Given the description of an element on the screen output the (x, y) to click on. 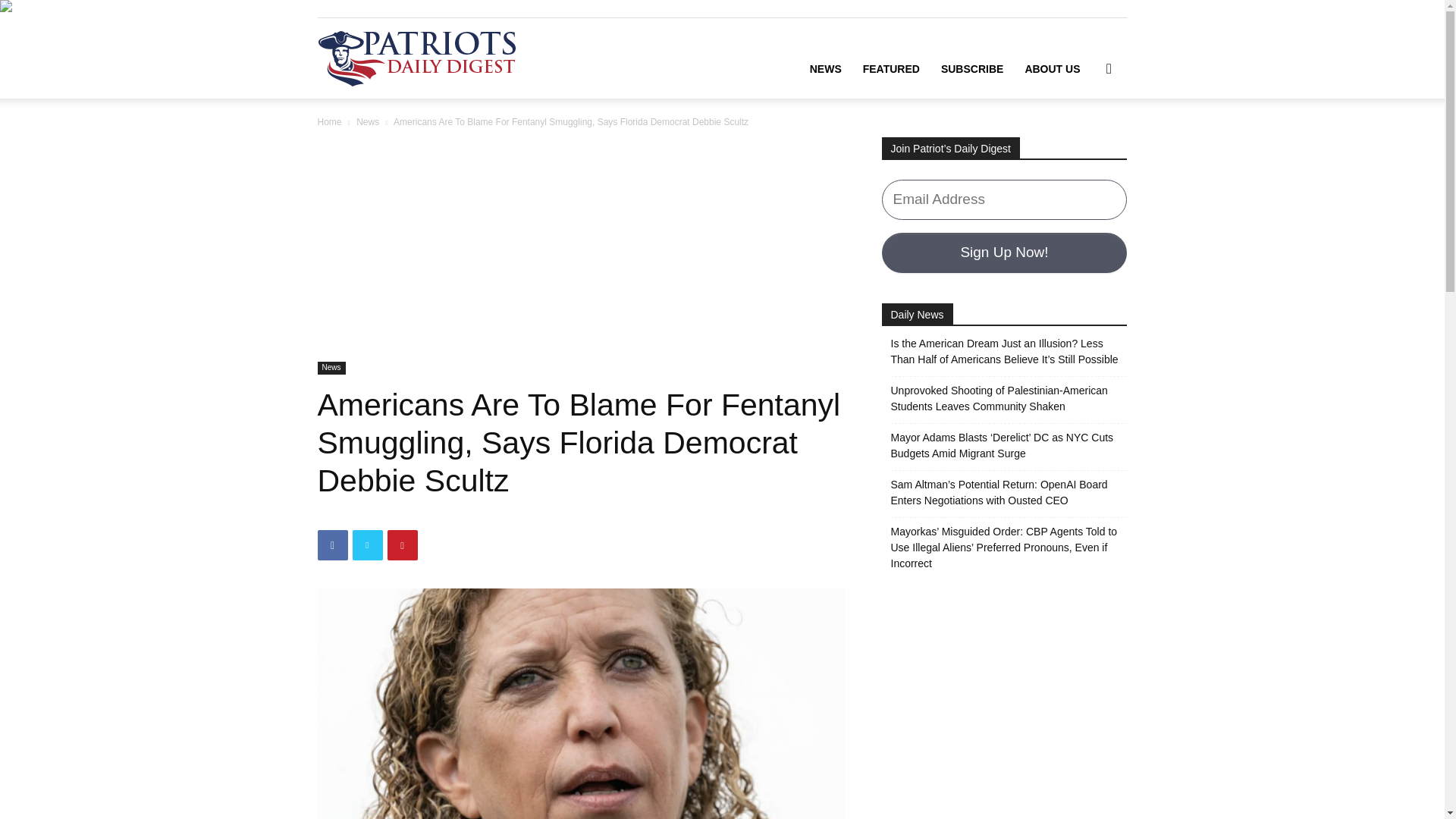
Patriot's Daily Digest (416, 58)
Advertisement (580, 249)
ABOUT US (1051, 68)
View all posts in News (367, 122)
Sign Up Now! (1003, 252)
News (367, 122)
Search (1085, 140)
News (331, 367)
SUBSCRIBE (971, 68)
NEWS (825, 68)
Home (328, 122)
0315fentanyl (580, 703)
FEATURED (890, 68)
